Given the description of an element on the screen output the (x, y) to click on. 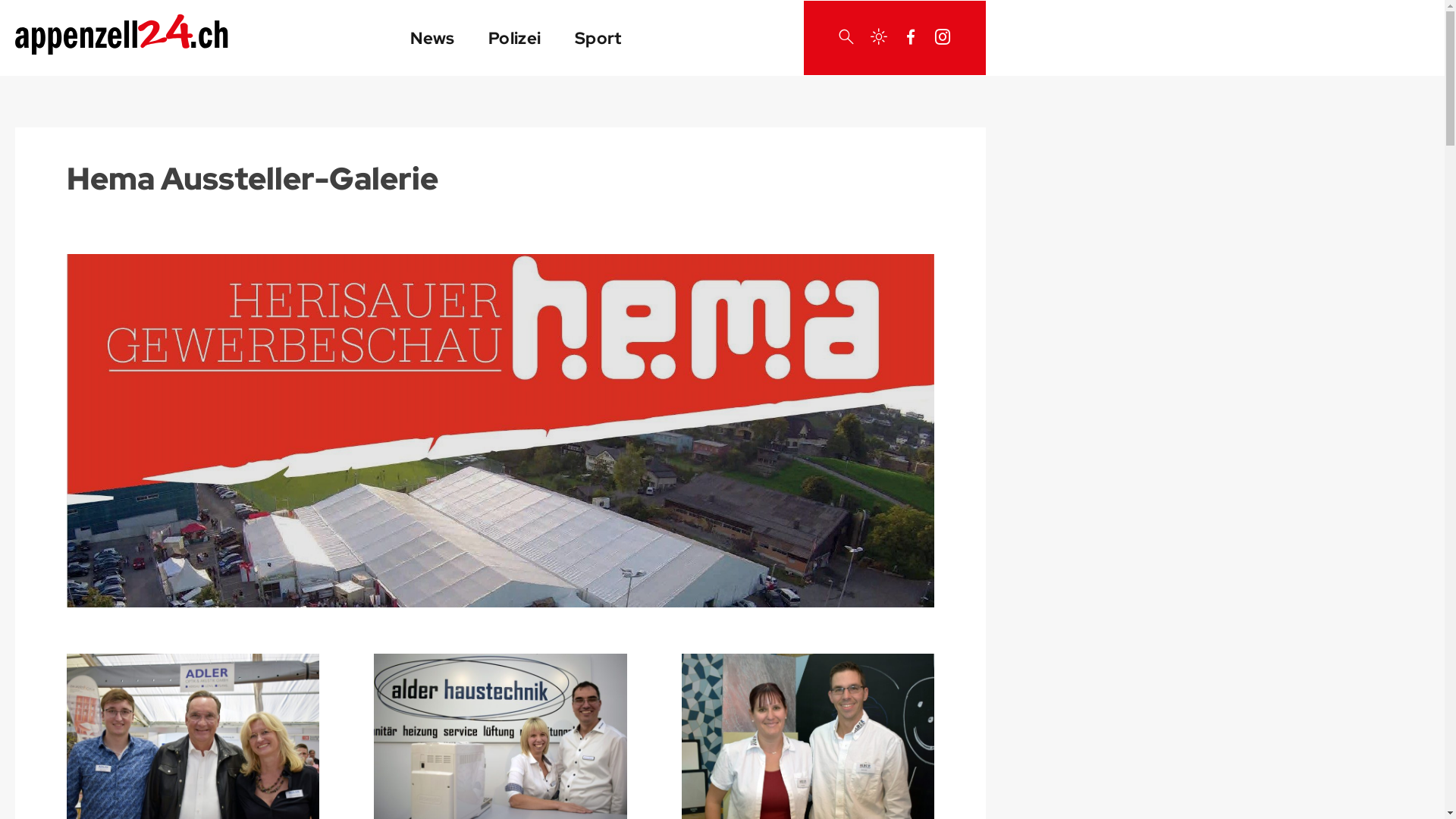
Sport Element type: text (598, 37)
Polizei Element type: text (514, 37)
News Element type: text (432, 37)
